Given the description of an element on the screen output the (x, y) to click on. 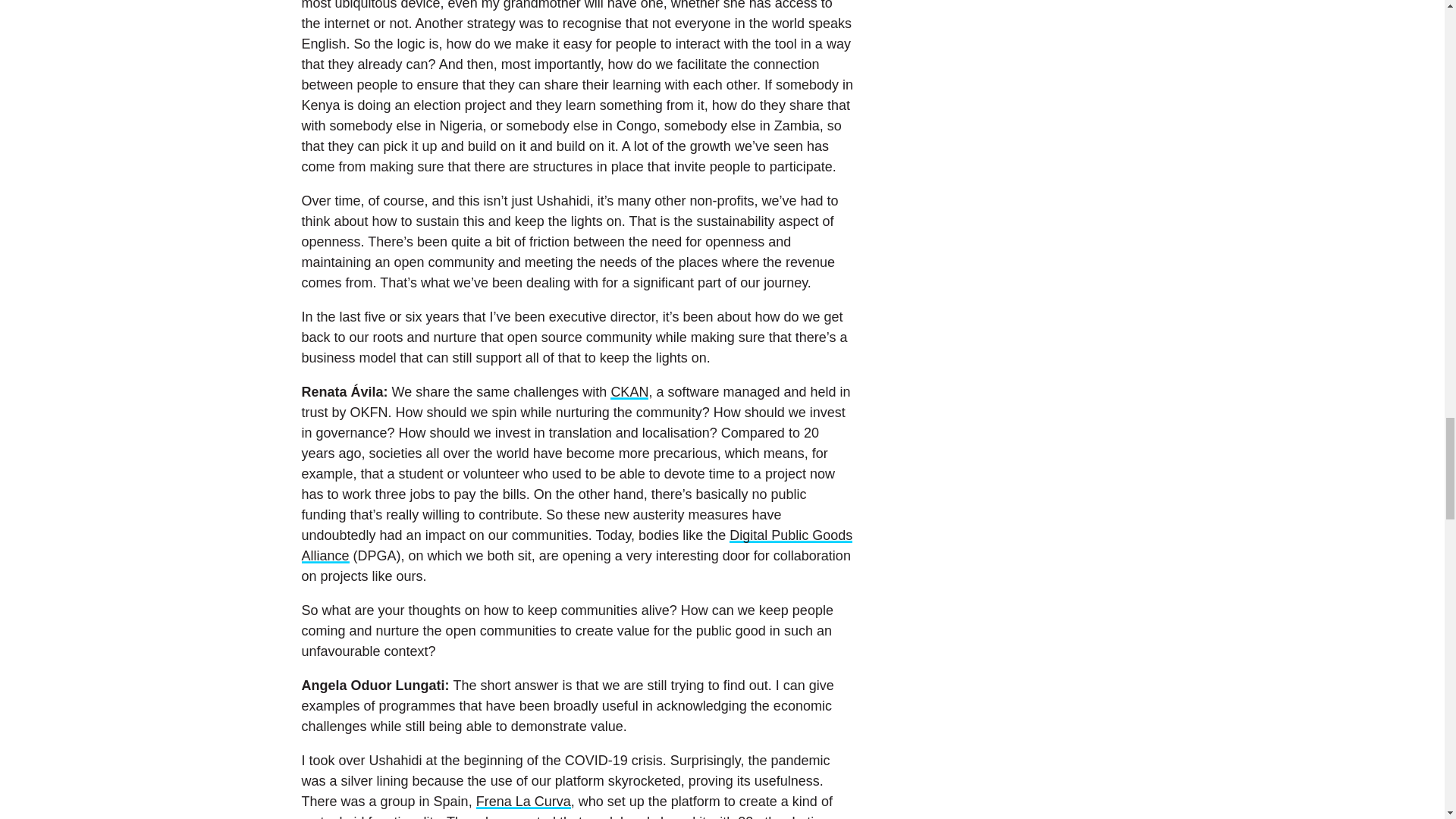
CKAN (628, 391)
Frena La Curva (523, 801)
Digital Public Goods Alliance (577, 545)
